Given the description of an element on the screen output the (x, y) to click on. 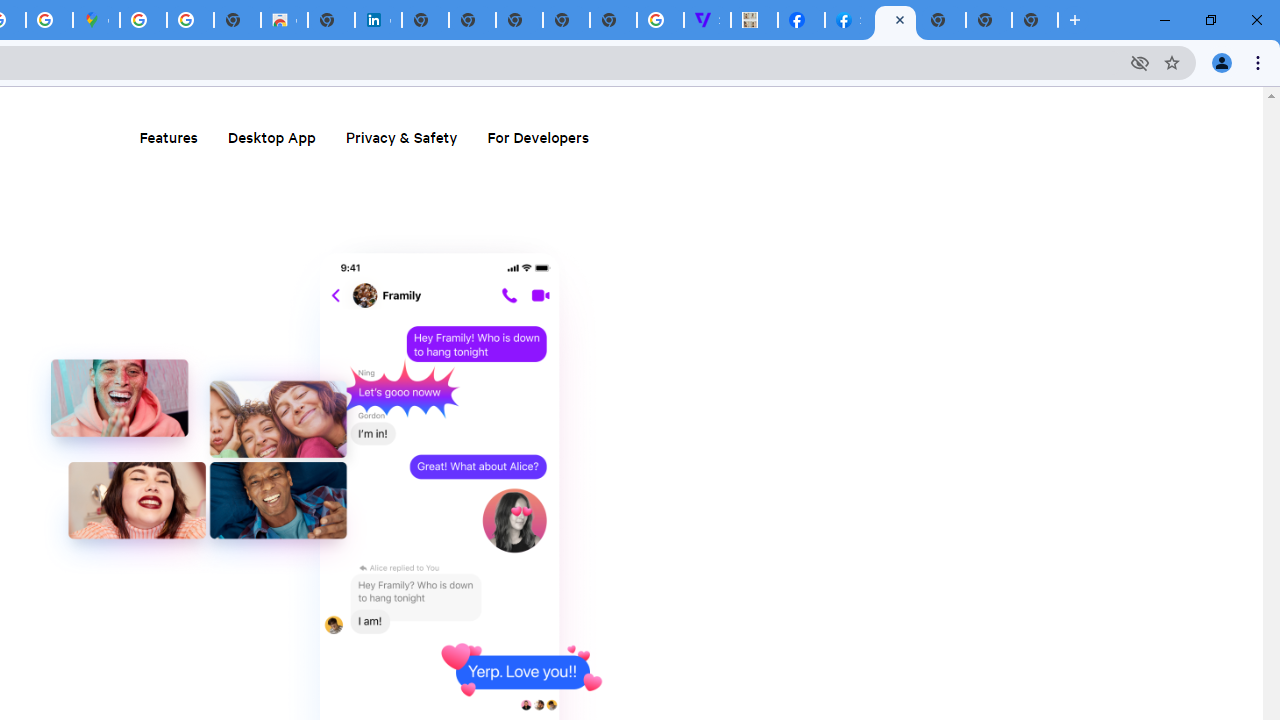
Messenger (895, 20)
For Developers (537, 136)
New Tab (1035, 20)
Chrome Web Store (284, 20)
Cookie Policy | LinkedIn (377, 20)
MILEY CYRUS. (754, 20)
Features (168, 136)
